Given the description of an element on the screen output the (x, y) to click on. 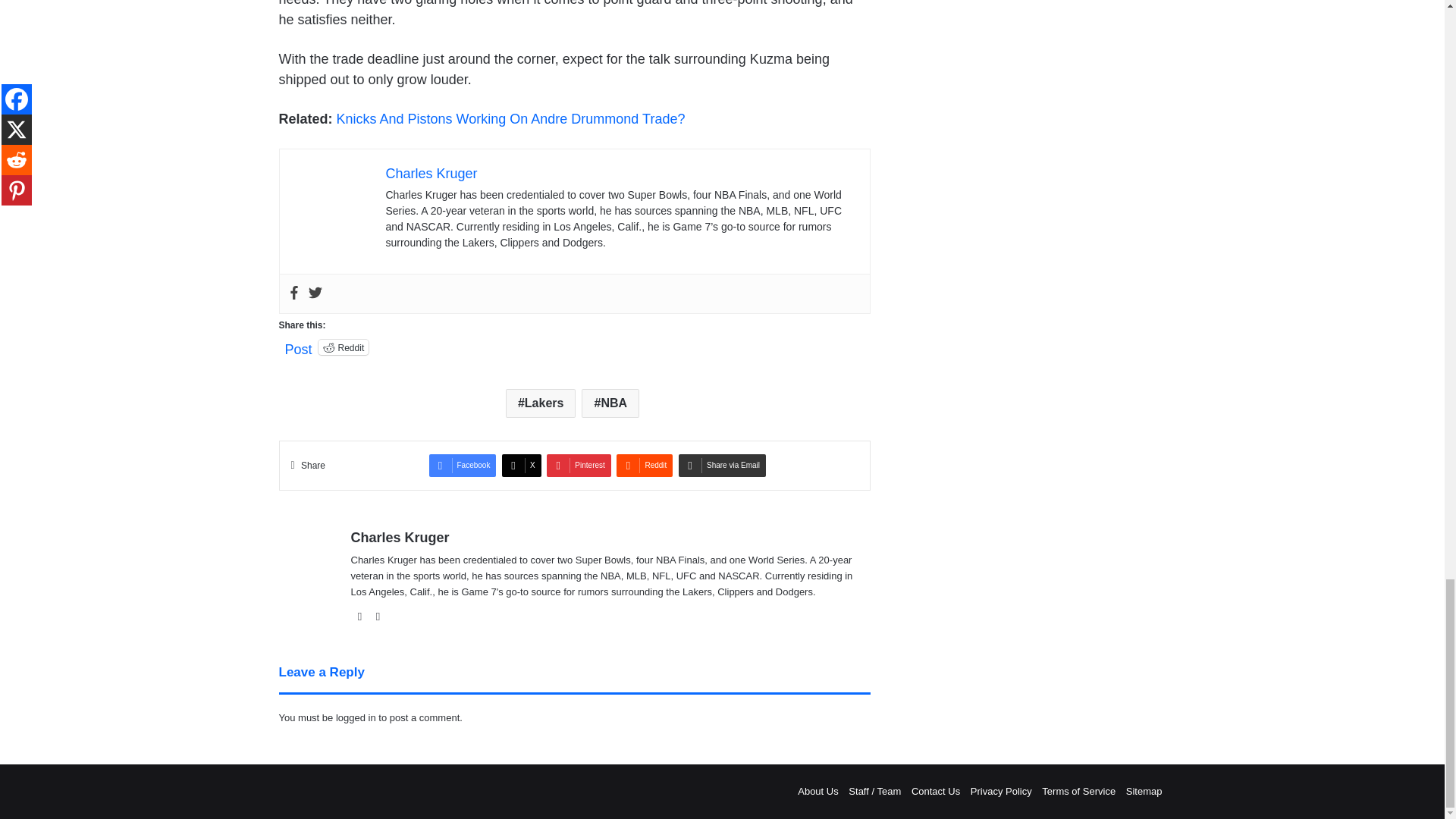
Knicks And Pistons Working On Andre Drummond Trade? (510, 118)
Charles Kruger (431, 173)
Lakers (540, 403)
Post (299, 345)
Reddit (343, 346)
